Given the description of an element on the screen output the (x, y) to click on. 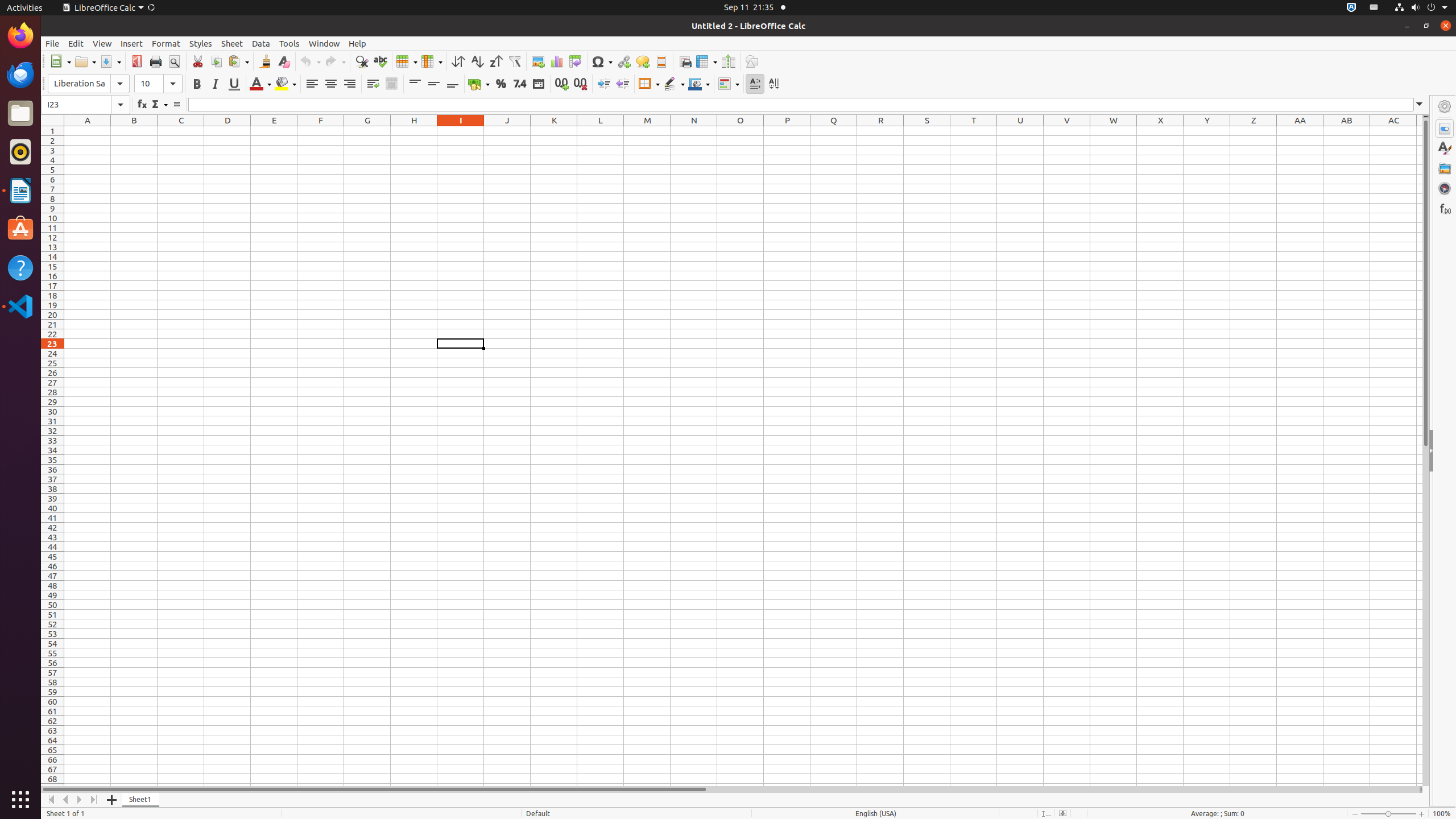
File Element type: menu (51, 43)
Gallery Element type: radio-button (1444, 168)
Delete Decimal Place Element type: push-button (580, 83)
Pivot Table Element type: push-button (574, 61)
